Given the description of an element on the screen output the (x, y) to click on. 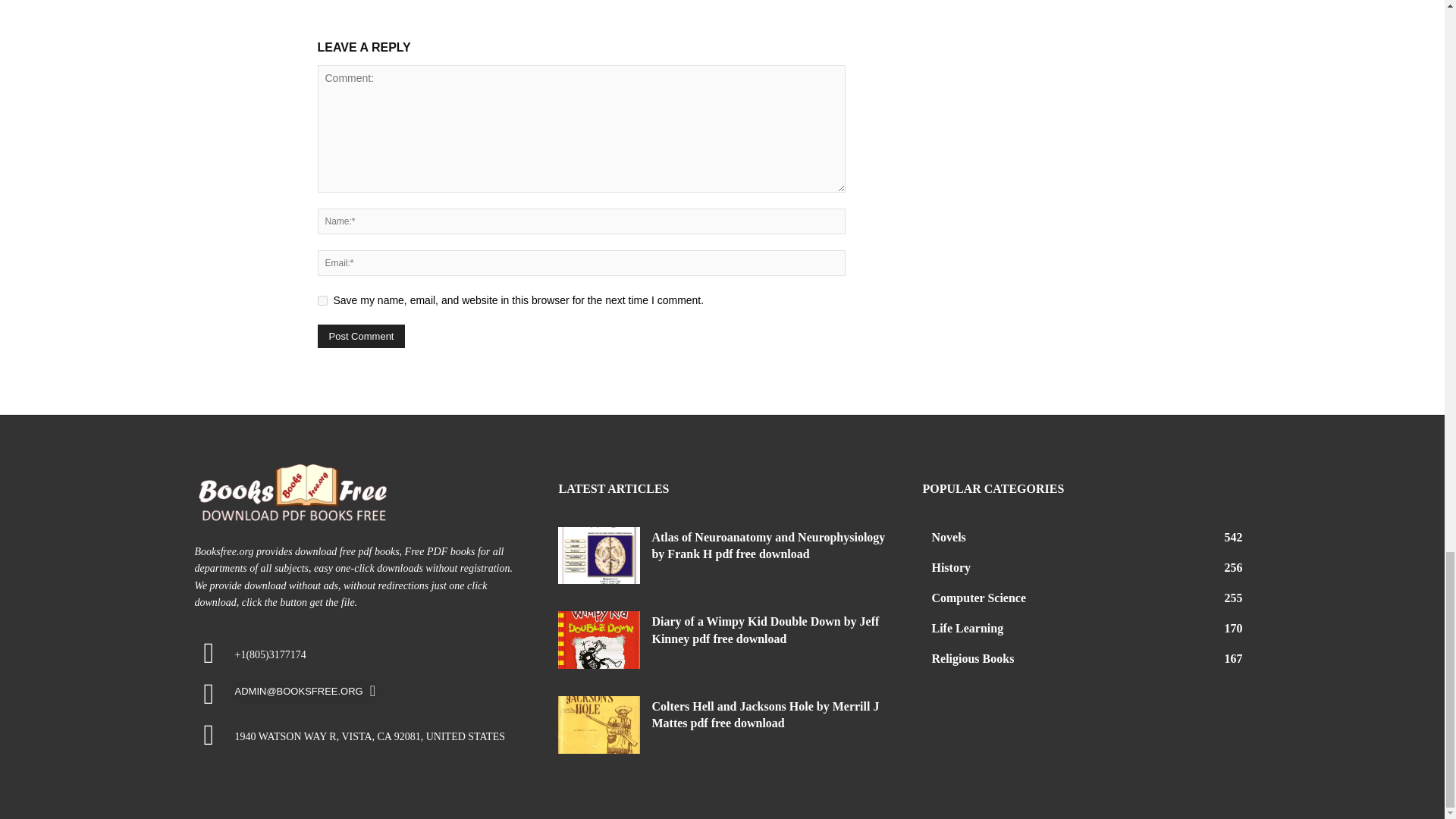
Post Comment (360, 336)
yes (321, 300)
